Given the description of an element on the screen output the (x, y) to click on. 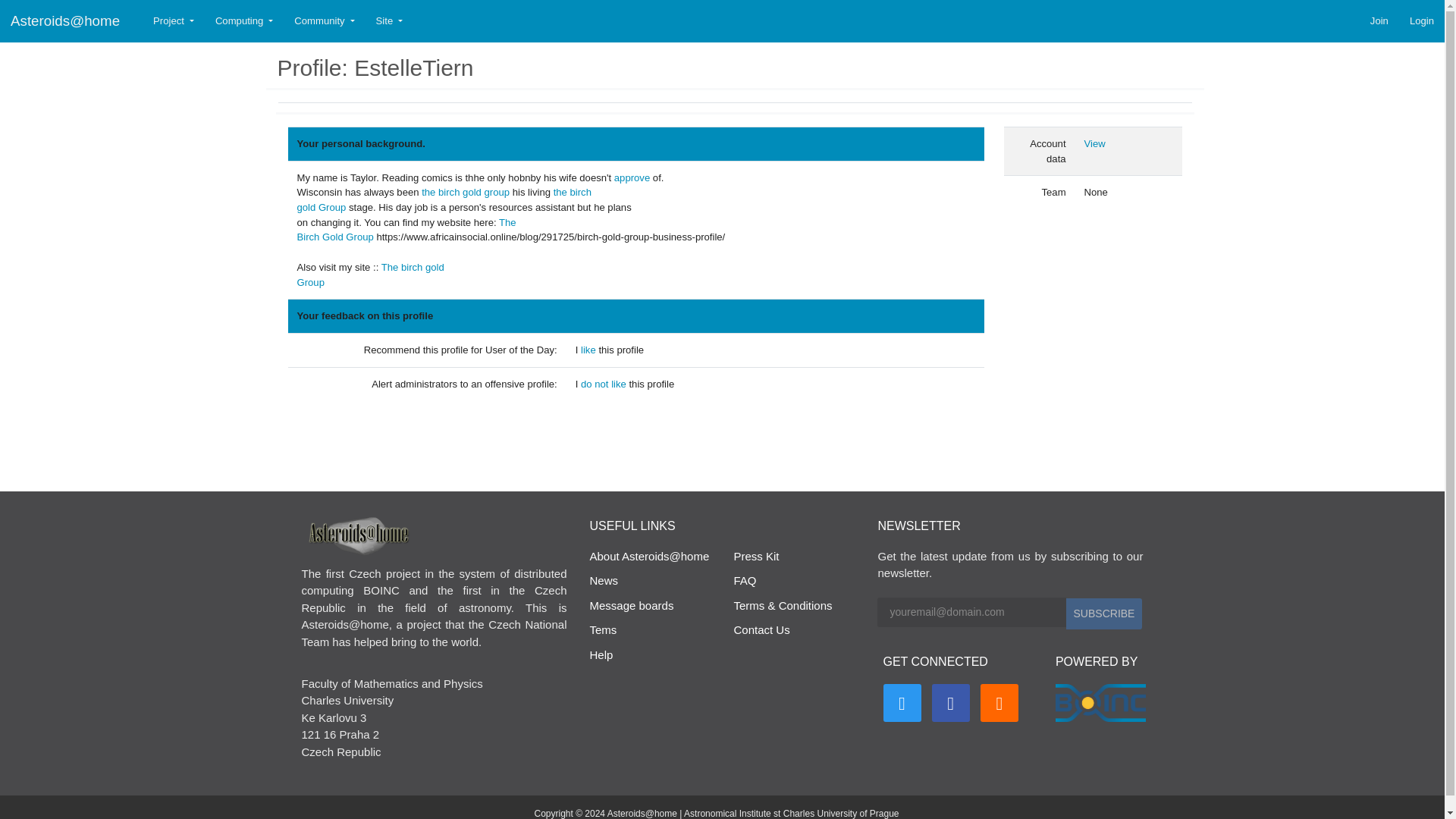
Community (324, 21)
like (589, 349)
approve (631, 177)
Site (389, 21)
do not like (604, 383)
Press Kit (755, 555)
Message boards (630, 604)
Join (1379, 21)
Computing (244, 21)
